Given the description of an element on the screen output the (x, y) to click on. 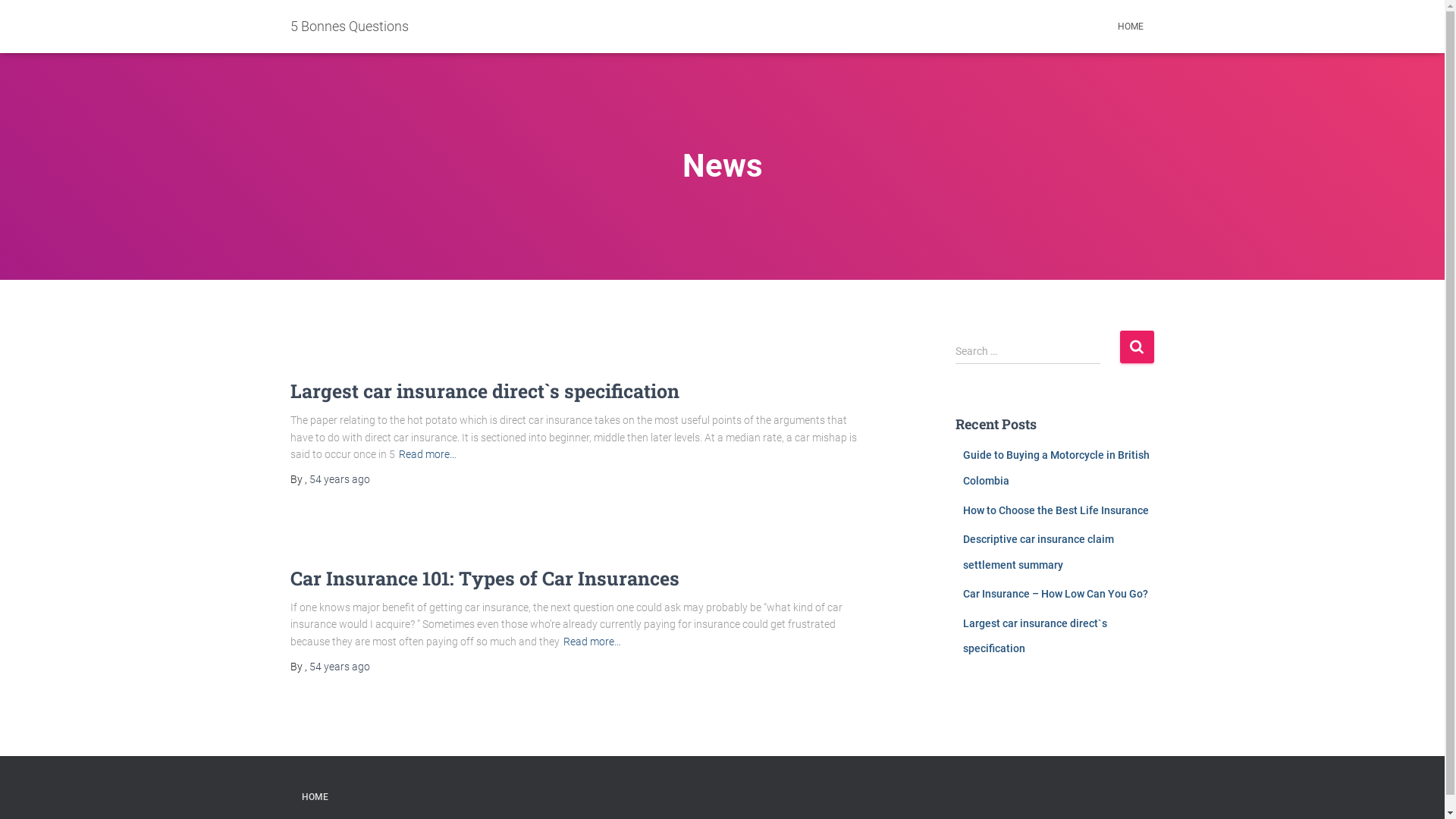
Car Insurance 101: Types of Car Insurances Element type: text (483, 577)
54 years ago Element type: text (339, 479)
Descriptive car insurance claim settlement summary Element type: text (1038, 552)
5 Bonnes Questions Element type: text (349, 26)
Guide to Buying a Motorcycle in British Colombia Element type: text (1056, 467)
54 years ago Element type: text (339, 666)
Largest car insurance direct`s specification Element type: text (1035, 636)
How to Choose the Best Life Insurance Element type: text (1055, 509)
Search Element type: text (1136, 346)
Largest car insurance direct`s specification Element type: text (483, 390)
HOME Element type: text (313, 796)
HOME Element type: text (1129, 26)
